Given the description of an element on the screen output the (x, y) to click on. 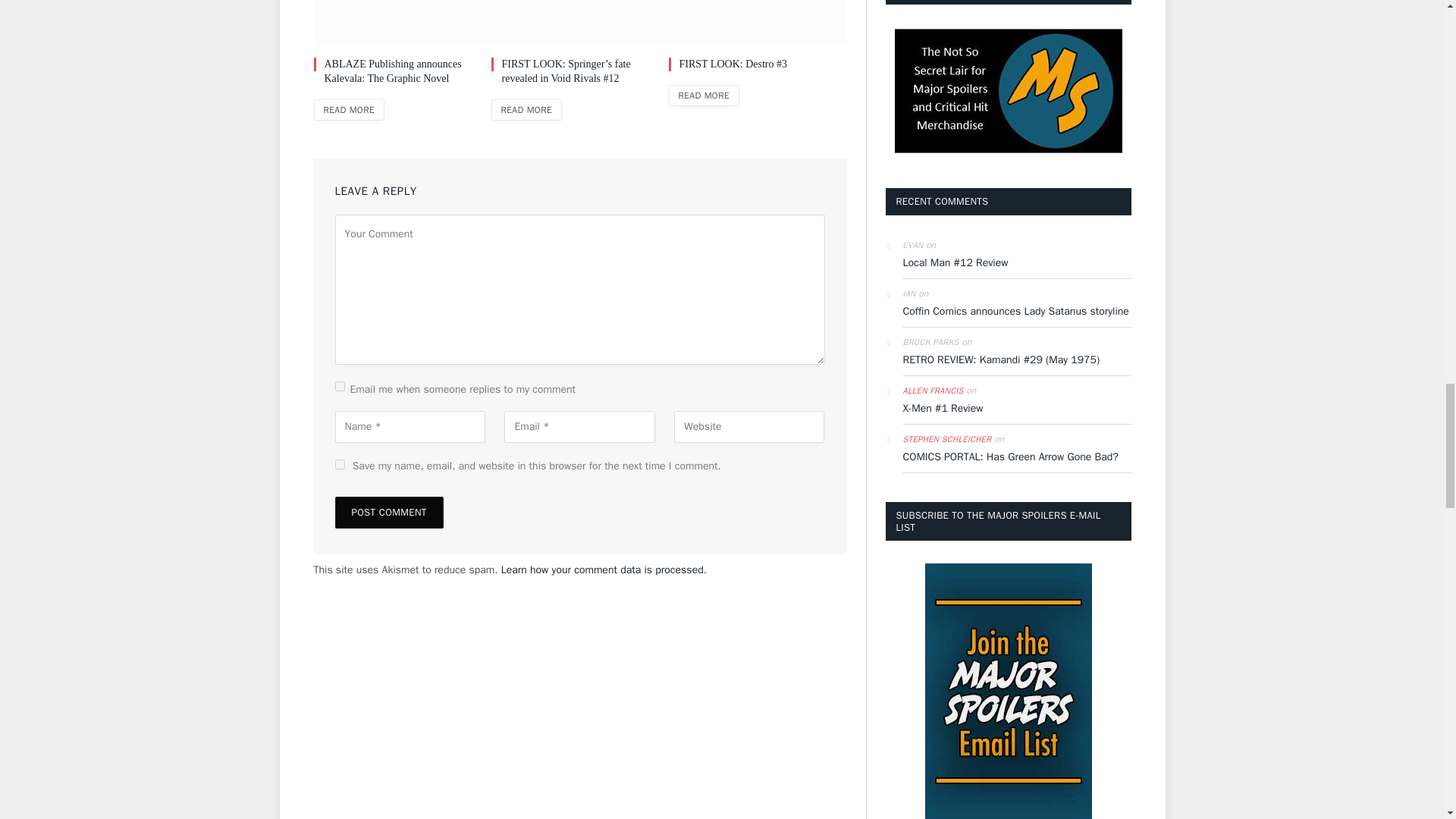
yes (339, 464)
Post Comment (389, 512)
